Given the description of an element on the screen output the (x, y) to click on. 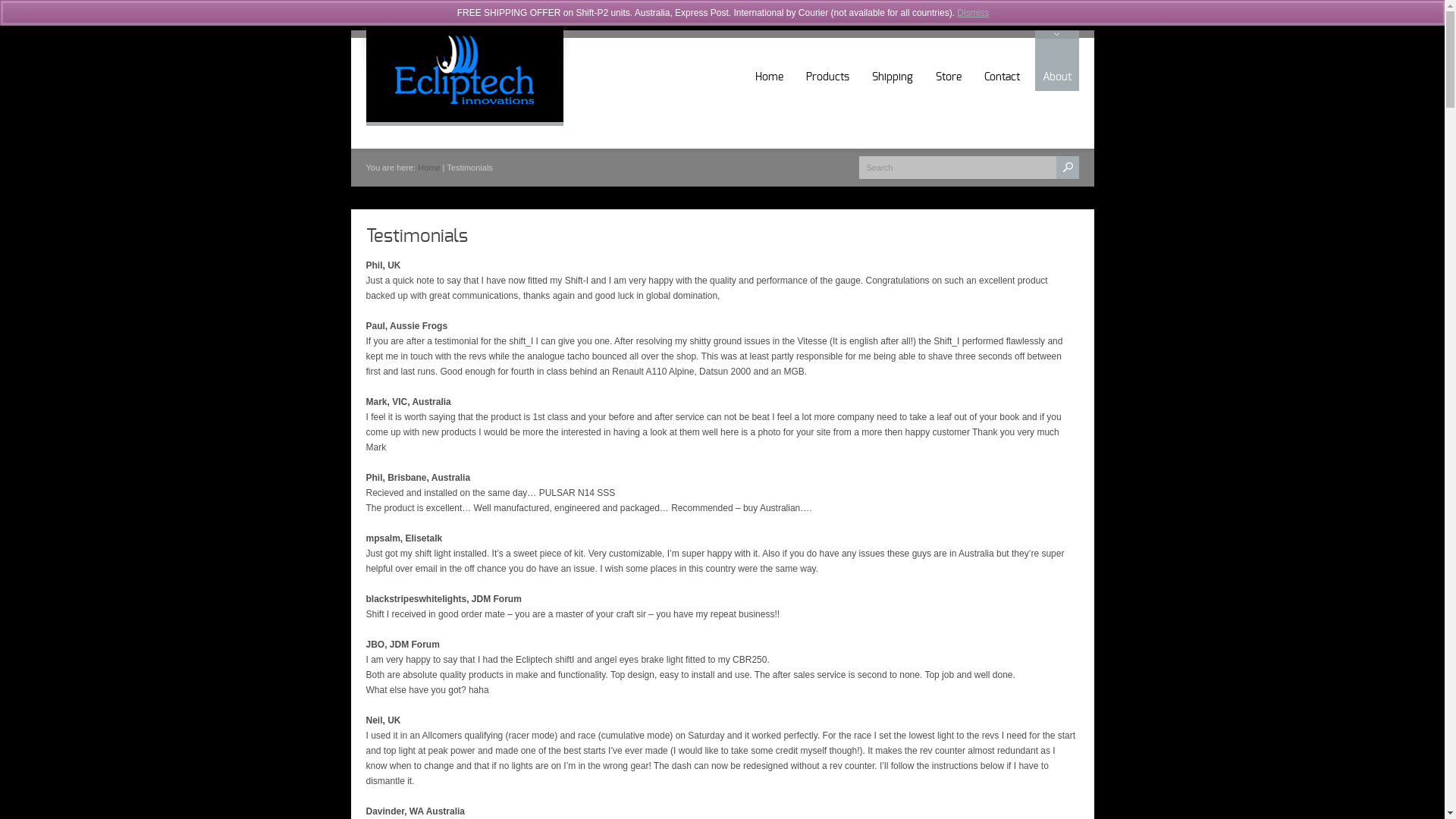
Shipping Element type: text (892, 60)
Login / Register Element type: text (1053, 8)
Home Element type: text (768, 60)
About Element type: text (1056, 60)
0 items - $0.00 Element type: text (956, 8)
Store Element type: text (948, 60)
Contact Element type: text (1001, 60)
Ecliptech Element type: hover (463, 106)
Dismiss Element type: text (972, 12)
Products Element type: text (826, 60)
Home Element type: text (428, 167)
